Given the description of an element on the screen output the (x, y) to click on. 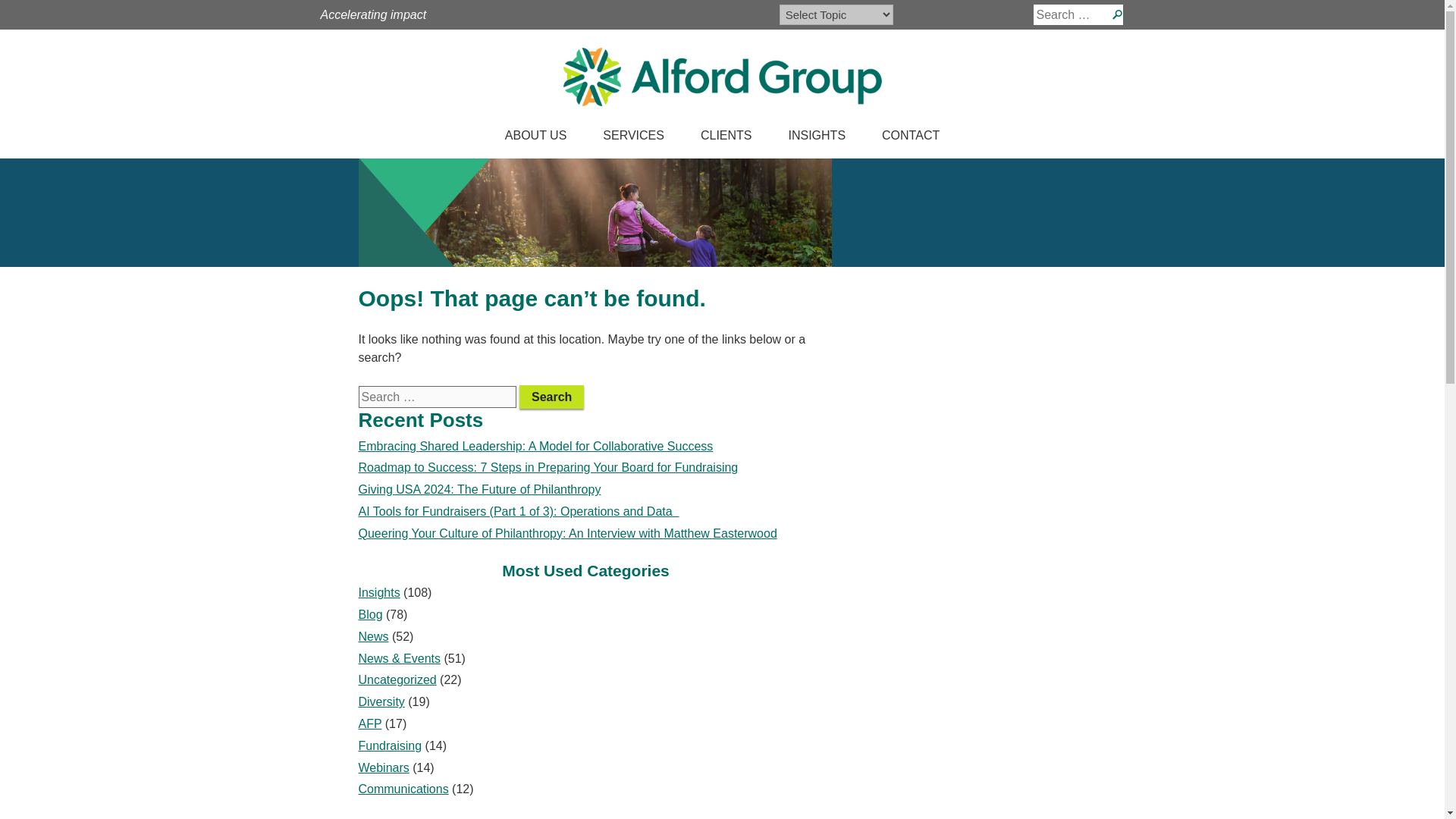
INSIGHTS (817, 137)
Search (551, 396)
ABOUT US (535, 137)
Diversity (381, 701)
SERVICES (633, 137)
LinkedIn (611, 14)
Blog (369, 614)
Facebook (575, 14)
Twitter (593, 14)
Insights (378, 592)
